Given the description of an element on the screen output the (x, y) to click on. 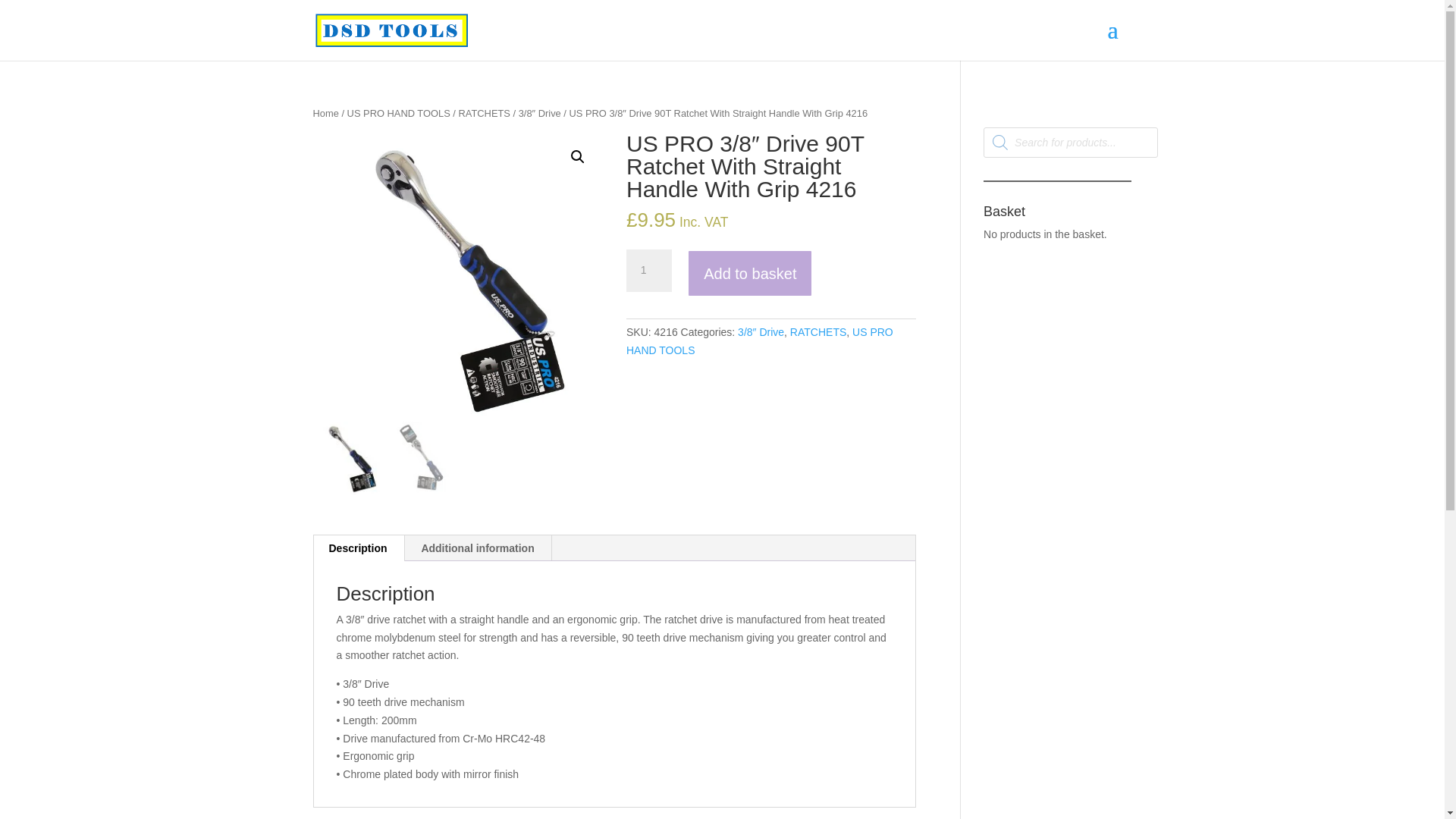
4216-BZ (457, 277)
1 (648, 270)
